Given the description of an element on the screen output the (x, y) to click on. 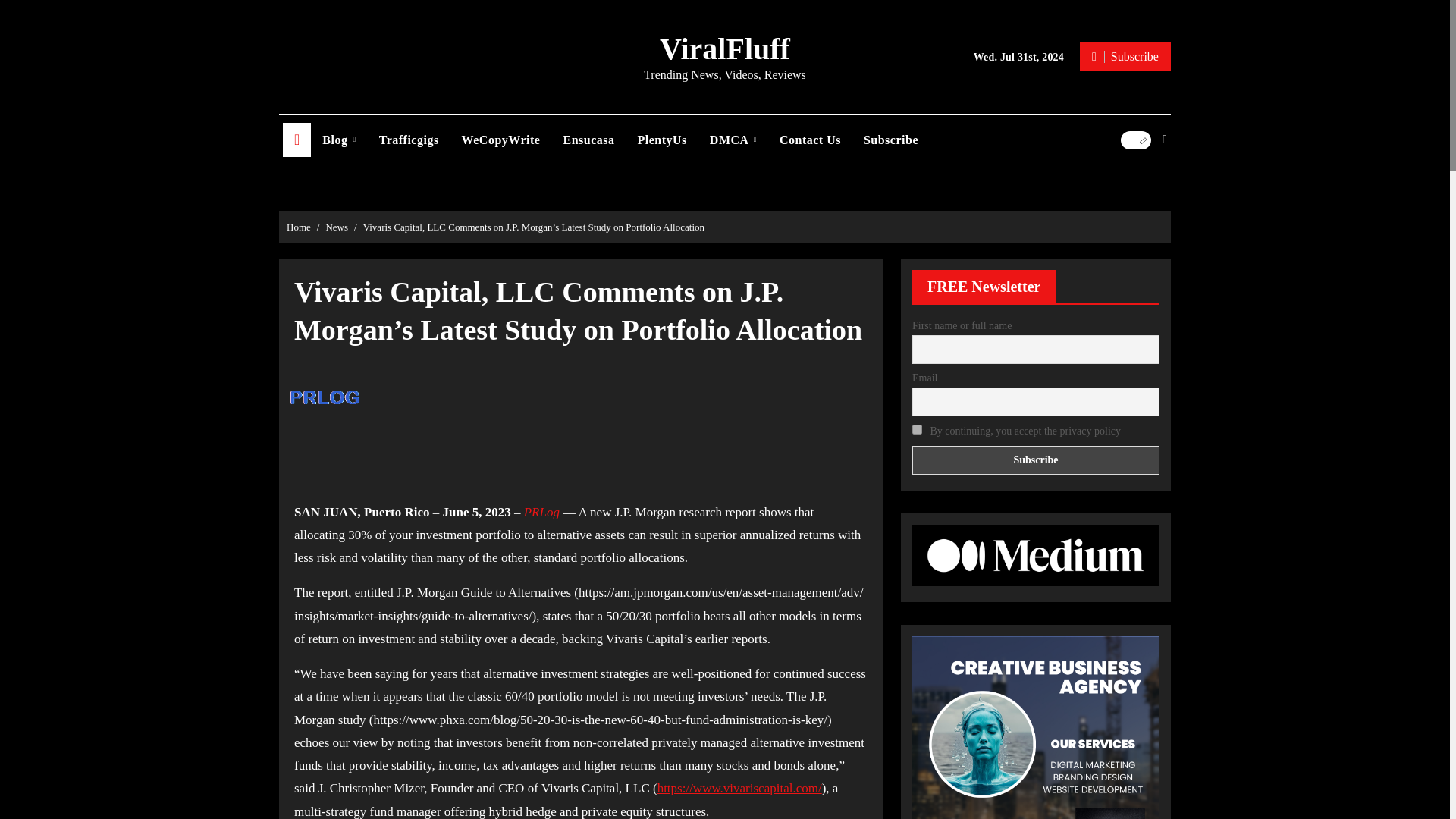
Blog (338, 139)
Trafficgigs (408, 139)
Subscribe (1035, 460)
on (916, 429)
PlentyUs (662, 139)
Contact Us (809, 139)
Blog (338, 139)
DMCA (733, 139)
Ensucasa (588, 139)
WeCopyWrite (500, 139)
ViralFluff (724, 48)
Subscribe (1125, 56)
